Given the description of an element on the screen output the (x, y) to click on. 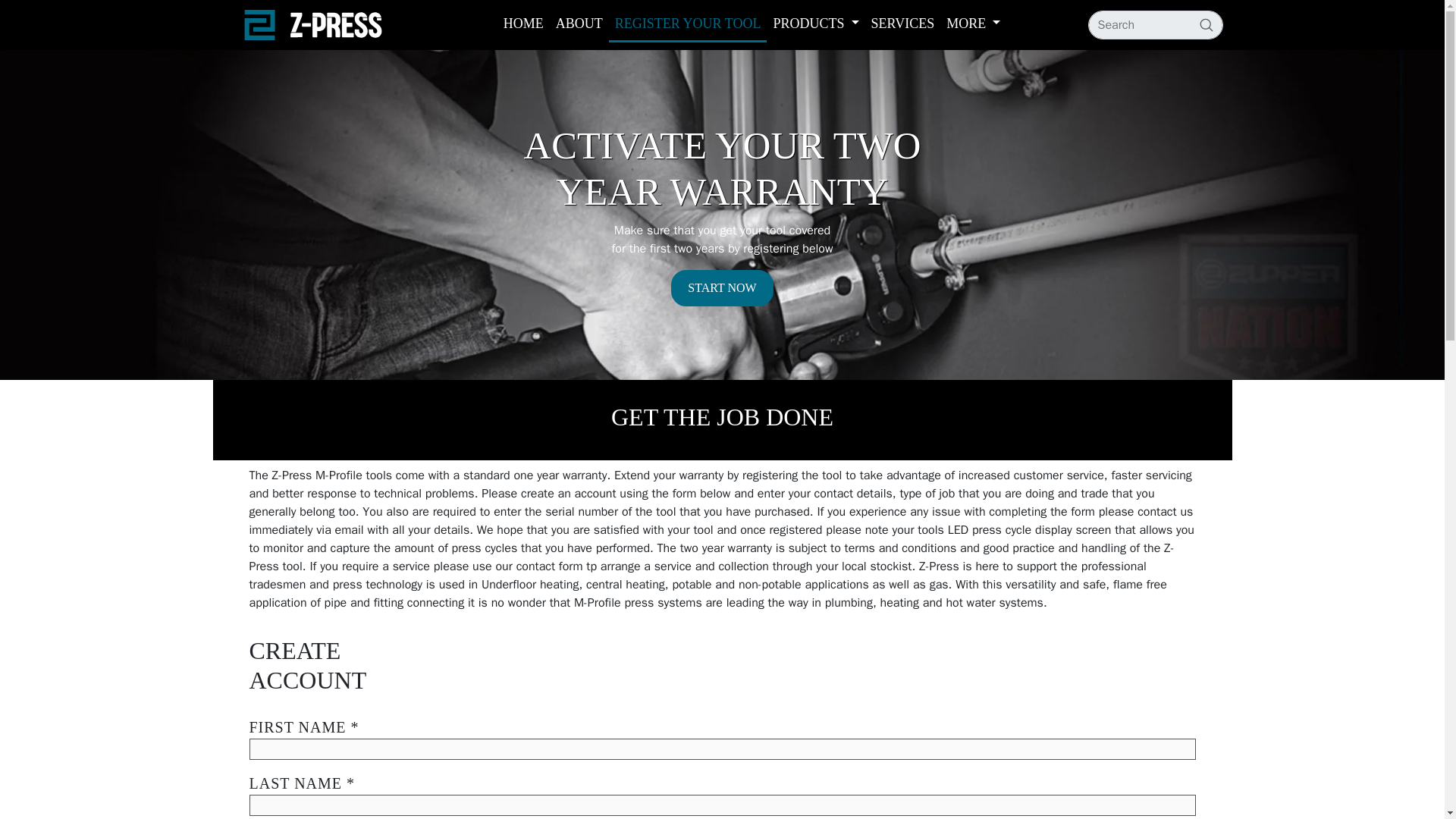
SERVICES (902, 23)
Z-Press (312, 24)
START NOW (722, 288)
Register your tool (687, 24)
PRODUCTS (815, 23)
Products (815, 23)
MORE (973, 23)
Home (523, 23)
REGISTER YOUR TOOL (687, 24)
Services (902, 23)
